Given the description of an element on the screen output the (x, y) to click on. 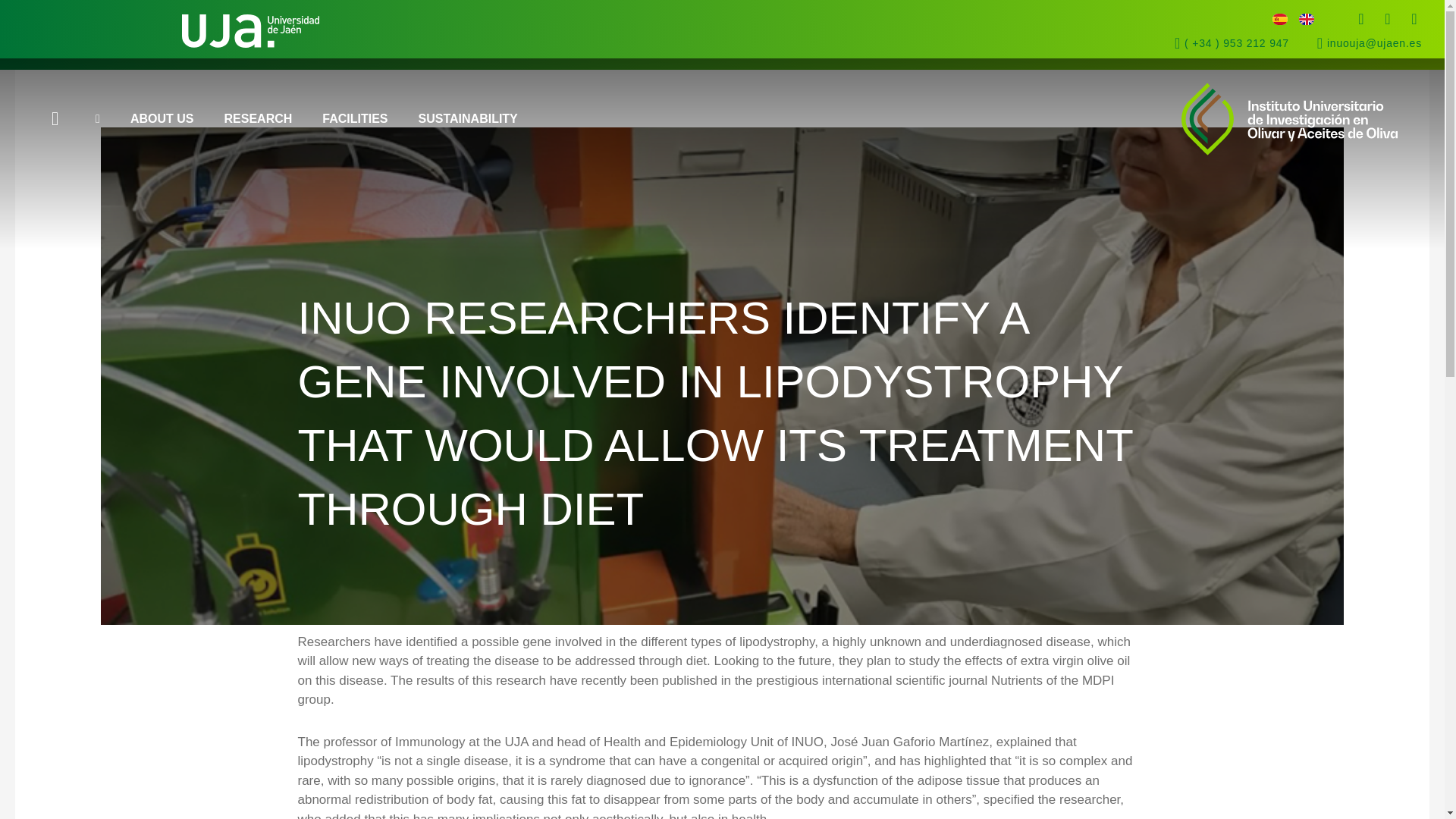
Linkedin (1414, 18)
X-twitter (1387, 18)
Facebook (1361, 18)
